Given the description of an element on the screen output the (x, y) to click on. 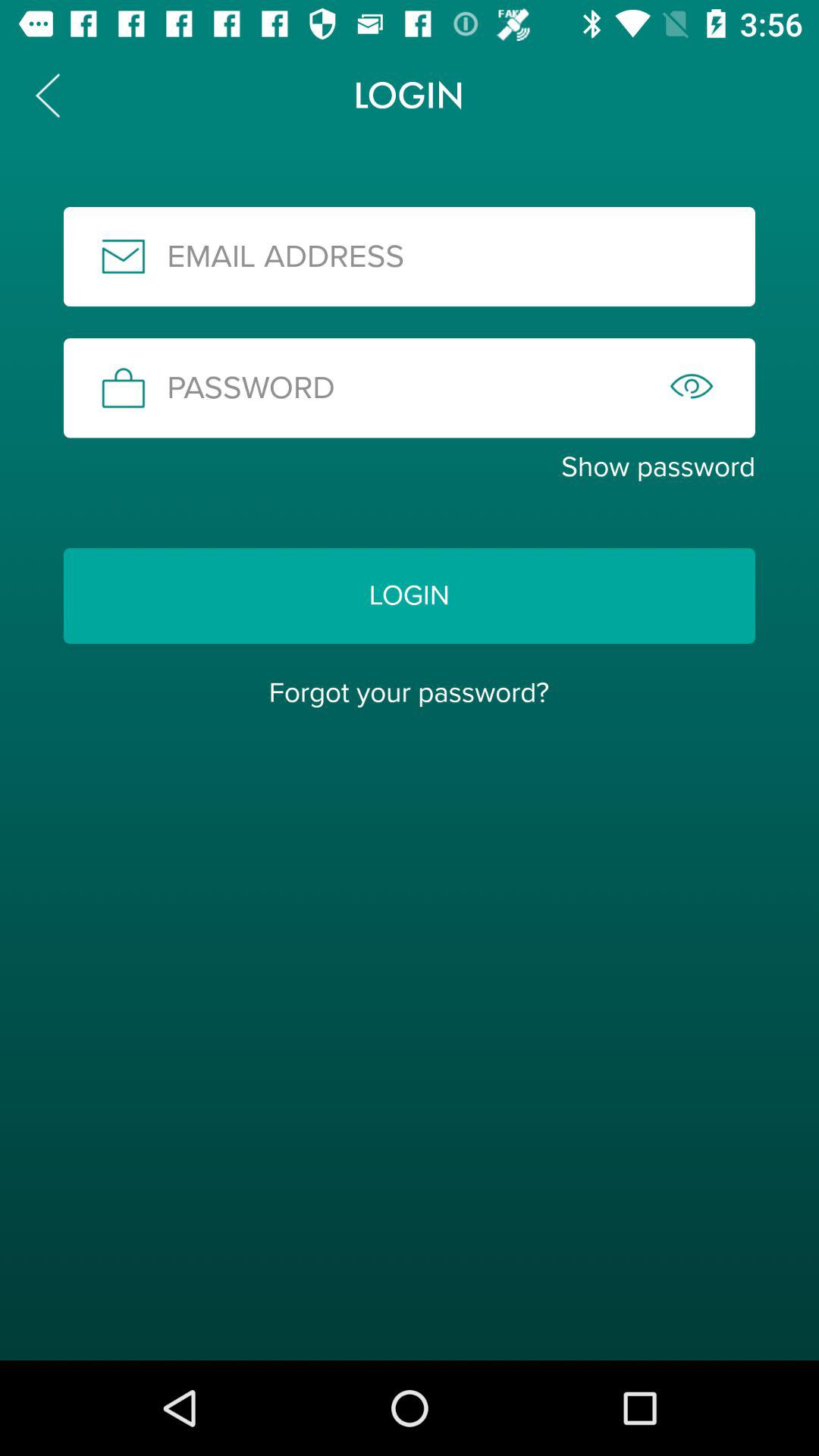
enter email (409, 256)
